Given the description of an element on the screen output the (x, y) to click on. 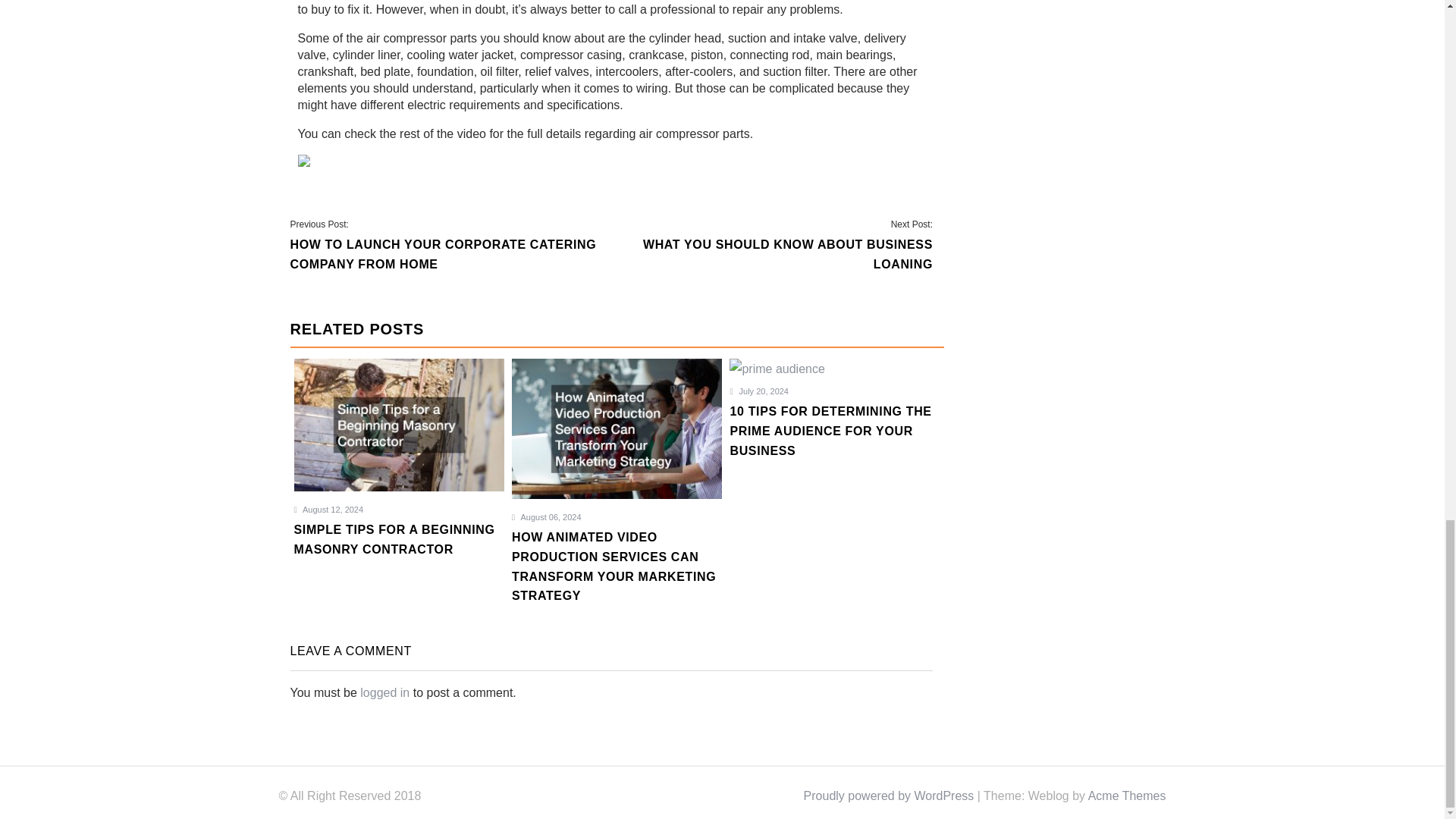
logged in (384, 692)
August 12, 2024 (329, 509)
10 TIPS FOR DETERMINING THE PRIME AUDIENCE FOR YOUR BUSINESS (834, 440)
Proudly powered by WordPress (888, 795)
July 20, 2024 (759, 390)
SIMPLE TIPS FOR A BEGINNING MASONRY CONTRACTOR (398, 548)
August 06, 2024 (546, 516)
